Given the description of an element on the screen output the (x, y) to click on. 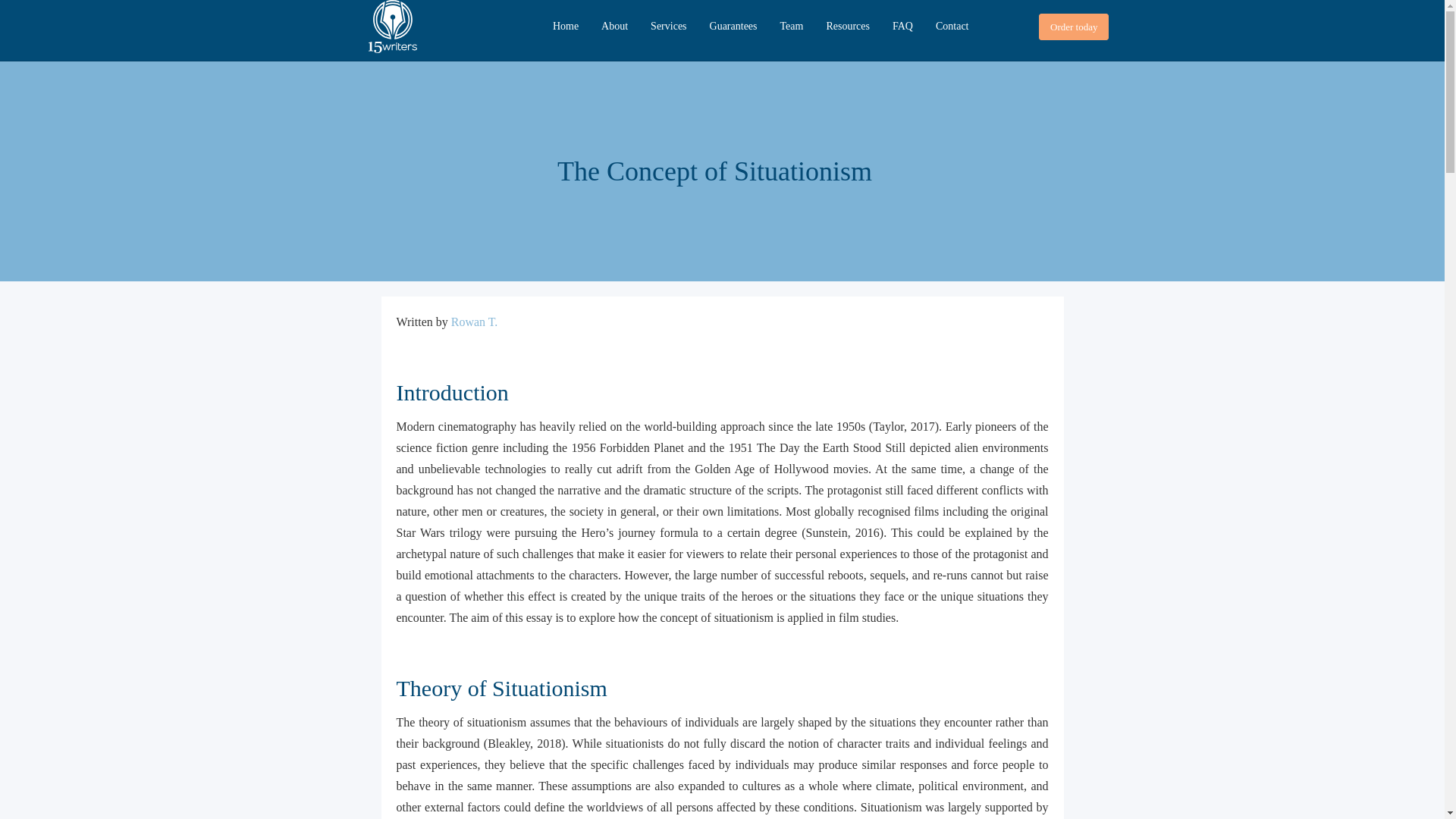
About (614, 26)
Home (565, 26)
Services (668, 26)
